Given the description of an element on the screen output the (x, y) to click on. 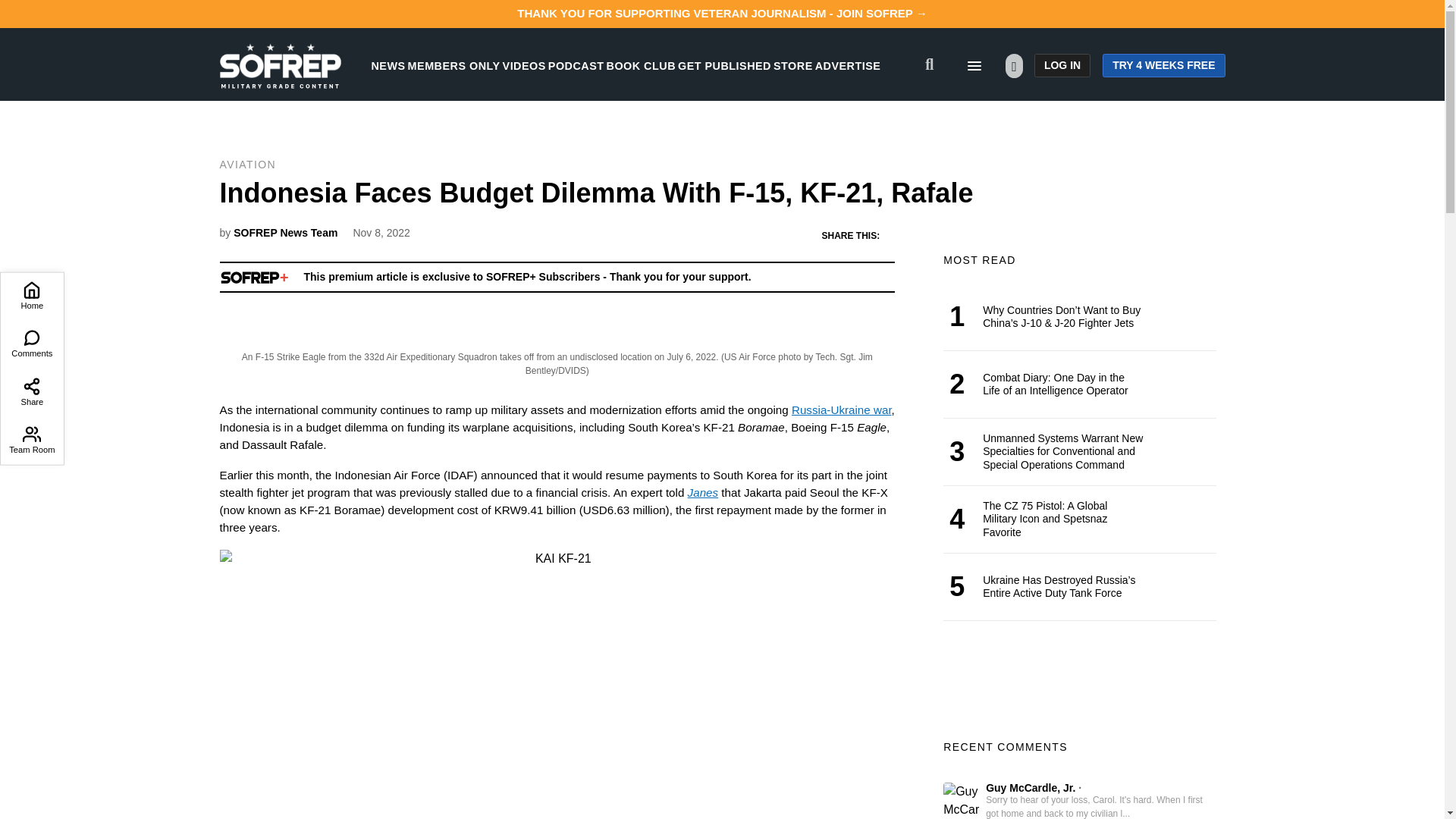
PODCAST (576, 65)
MEMBERS ONLY (453, 65)
NEWS (388, 65)
GET PUBLISHED (724, 65)
BOOK CLUB (641, 65)
ADVERTISE (847, 65)
STORE (792, 65)
VIDEOS (524, 65)
TRY 4 WEEKS FREE (1163, 65)
LOG IN (1061, 65)
